Given the description of an element on the screen output the (x, y) to click on. 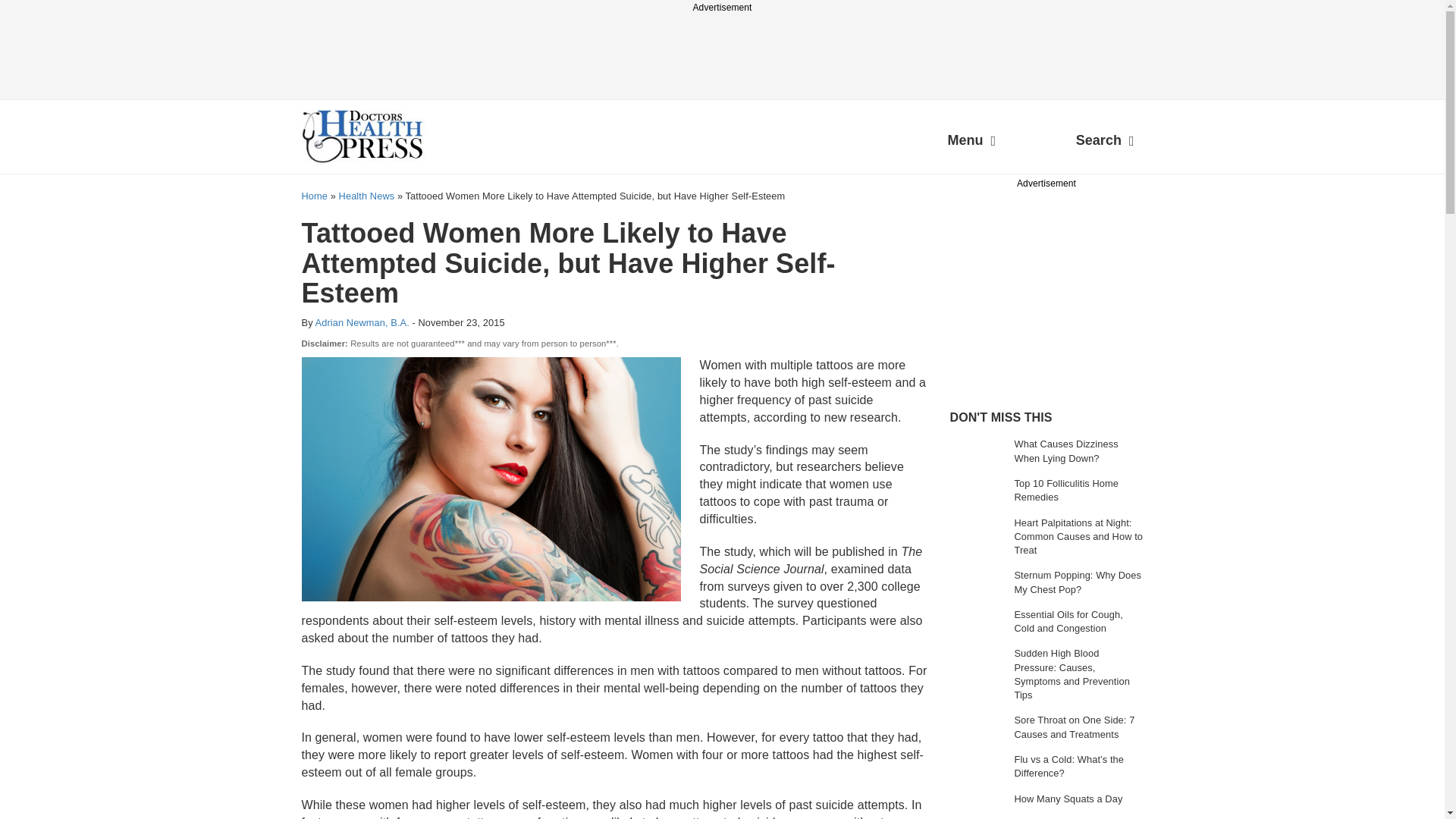
Posts by Adrian Newman, B.A. (362, 322)
Search (1104, 142)
Menu (970, 142)
